Given the description of an element on the screen output the (x, y) to click on. 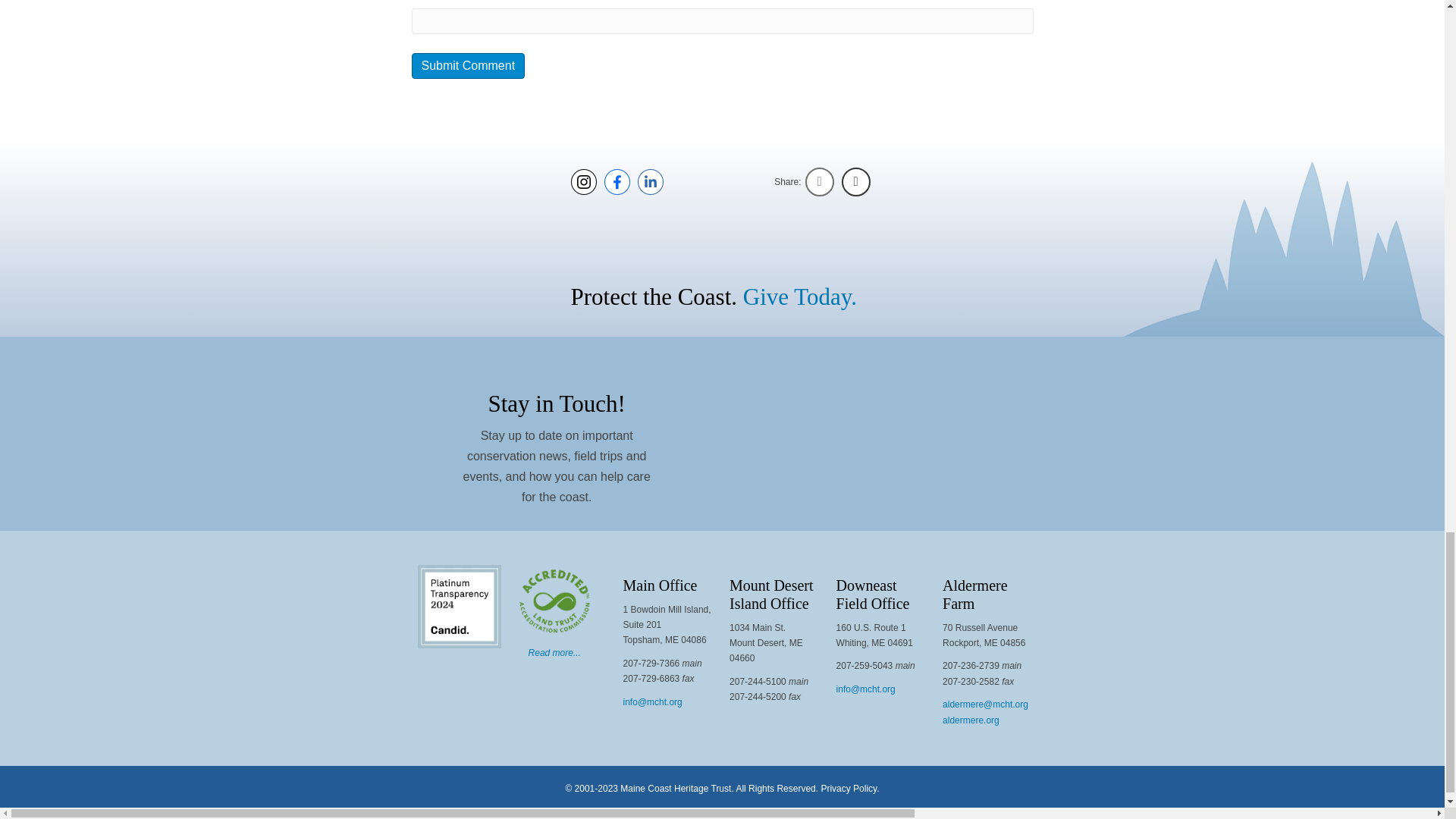
Submit Comment (467, 65)
Privacy Policy (848, 787)
Read more... (554, 652)
Submit Comment (467, 65)
aldermere.org (970, 719)
Give Today. (799, 296)
